Given the description of an element on the screen output the (x, y) to click on. 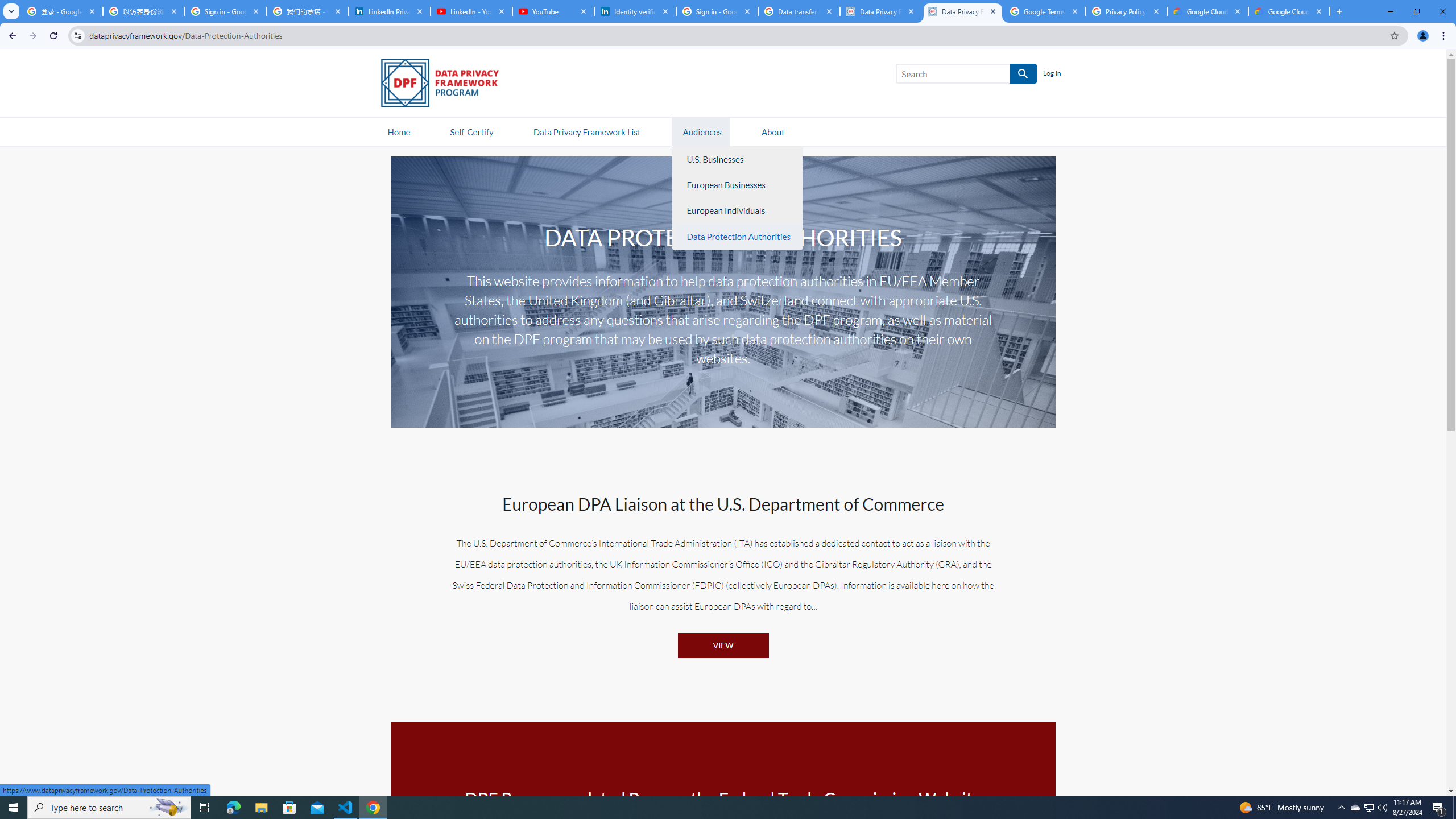
Data Privacy Framework Logo - Link to Homepage (445, 85)
VIEW (722, 644)
SEARCH (1022, 73)
Google Cloud Privacy Notice (1207, 11)
AutomationID: navitem (700, 131)
About (772, 131)
Data Privacy Framework (880, 11)
